Given the description of an element on the screen output the (x, y) to click on. 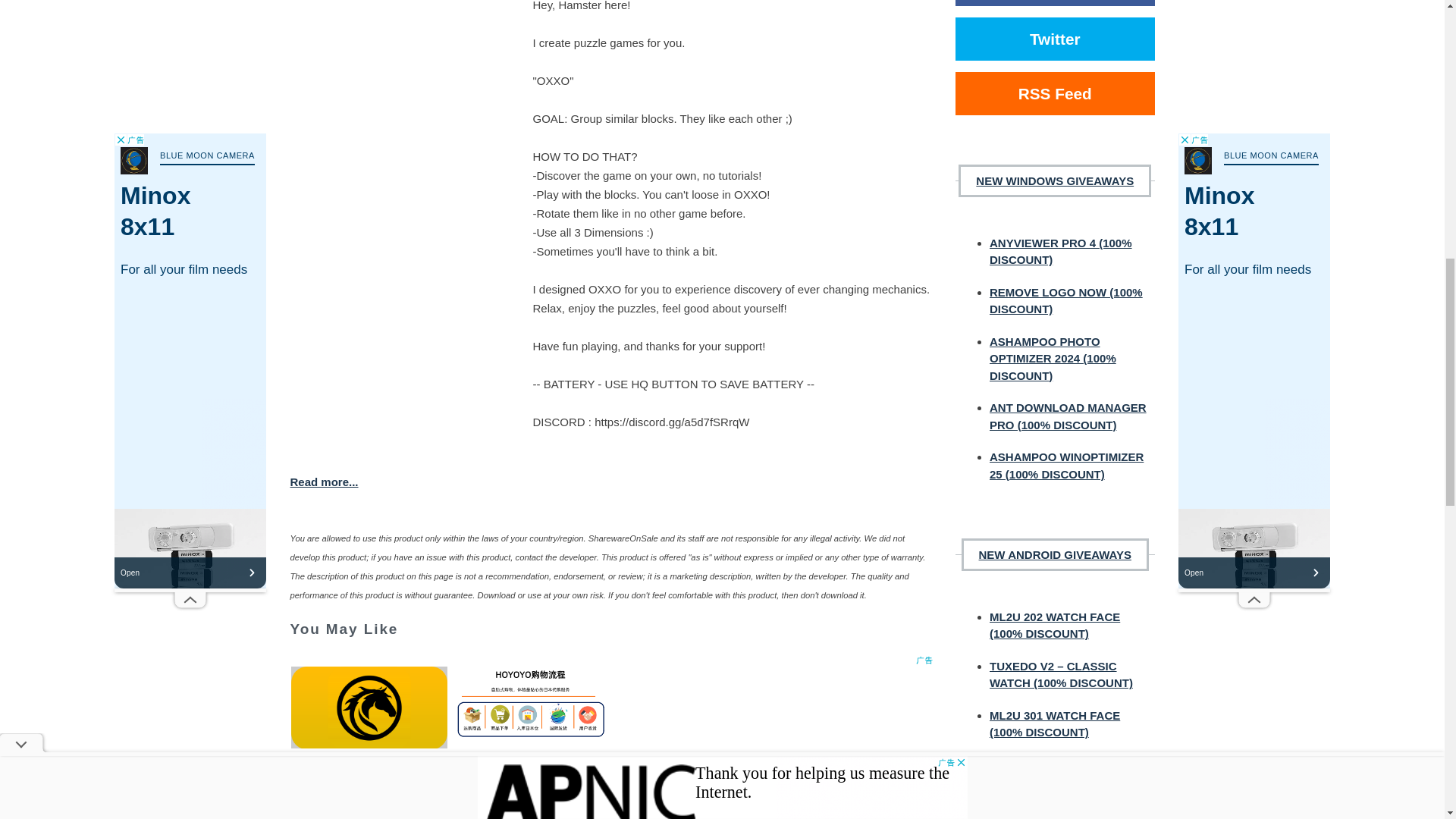
Facebook (1054, 2)
NEW ANDROID GIVEAWAYS (1054, 554)
Read more... (611, 481)
RSS Feed (1054, 93)
NEW WINDOWS GIVEAWAYS (1054, 180)
Twitter (1054, 38)
Advertisement (611, 736)
